Given the description of an element on the screen output the (x, y) to click on. 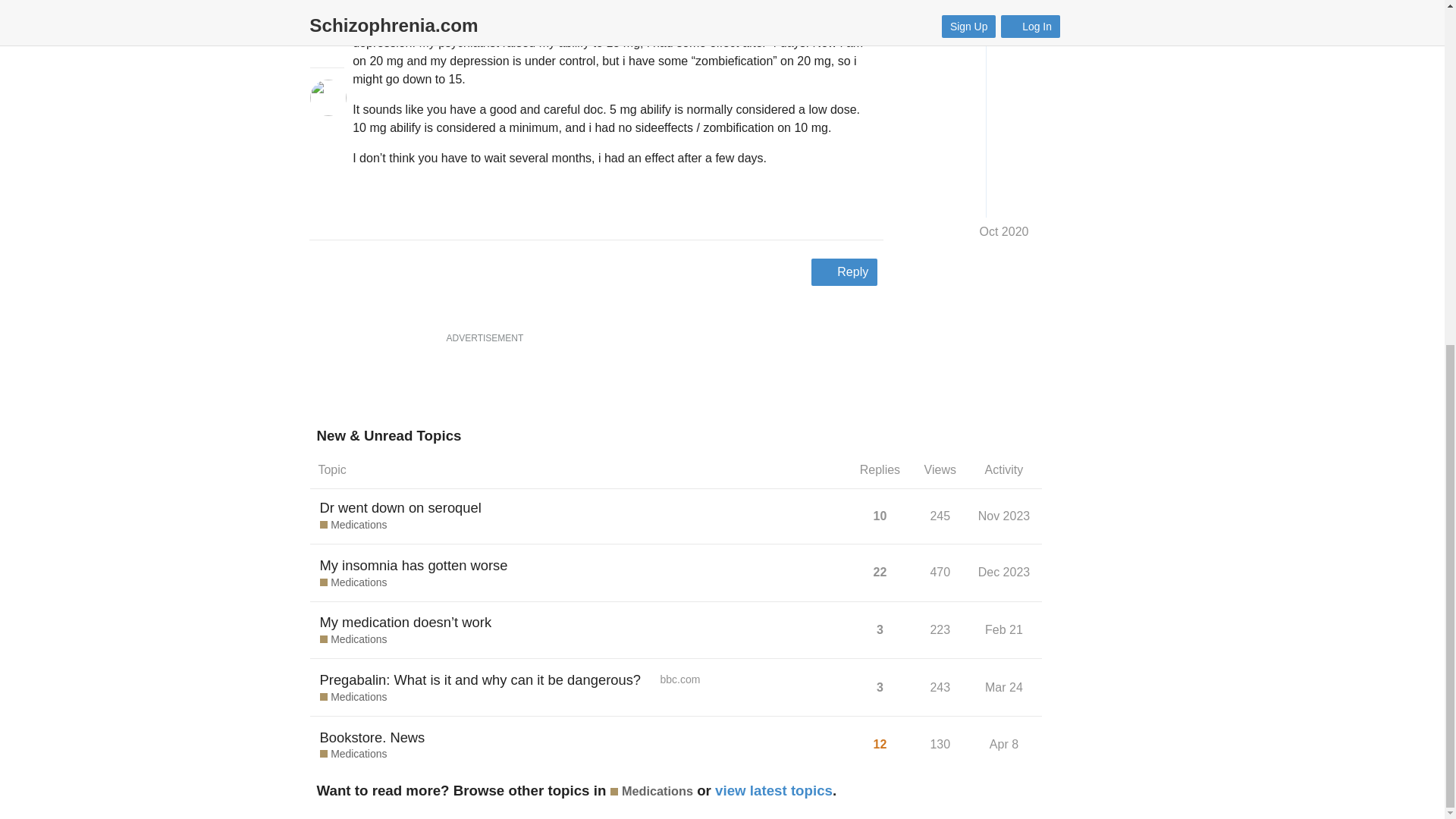
Medications (353, 639)
bbc.com (673, 679)
Medications (353, 582)
Pregabalin: What is it and why can it be dangerous? (481, 679)
Dr went down on seroquel (400, 507)
Feb 21 (1003, 629)
copy a link to this post to clipboard (869, 210)
Medications (353, 525)
this topic has been viewed 245 times (940, 515)
Nov 2023 (1003, 515)
